Given the description of an element on the screen output the (x, y) to click on. 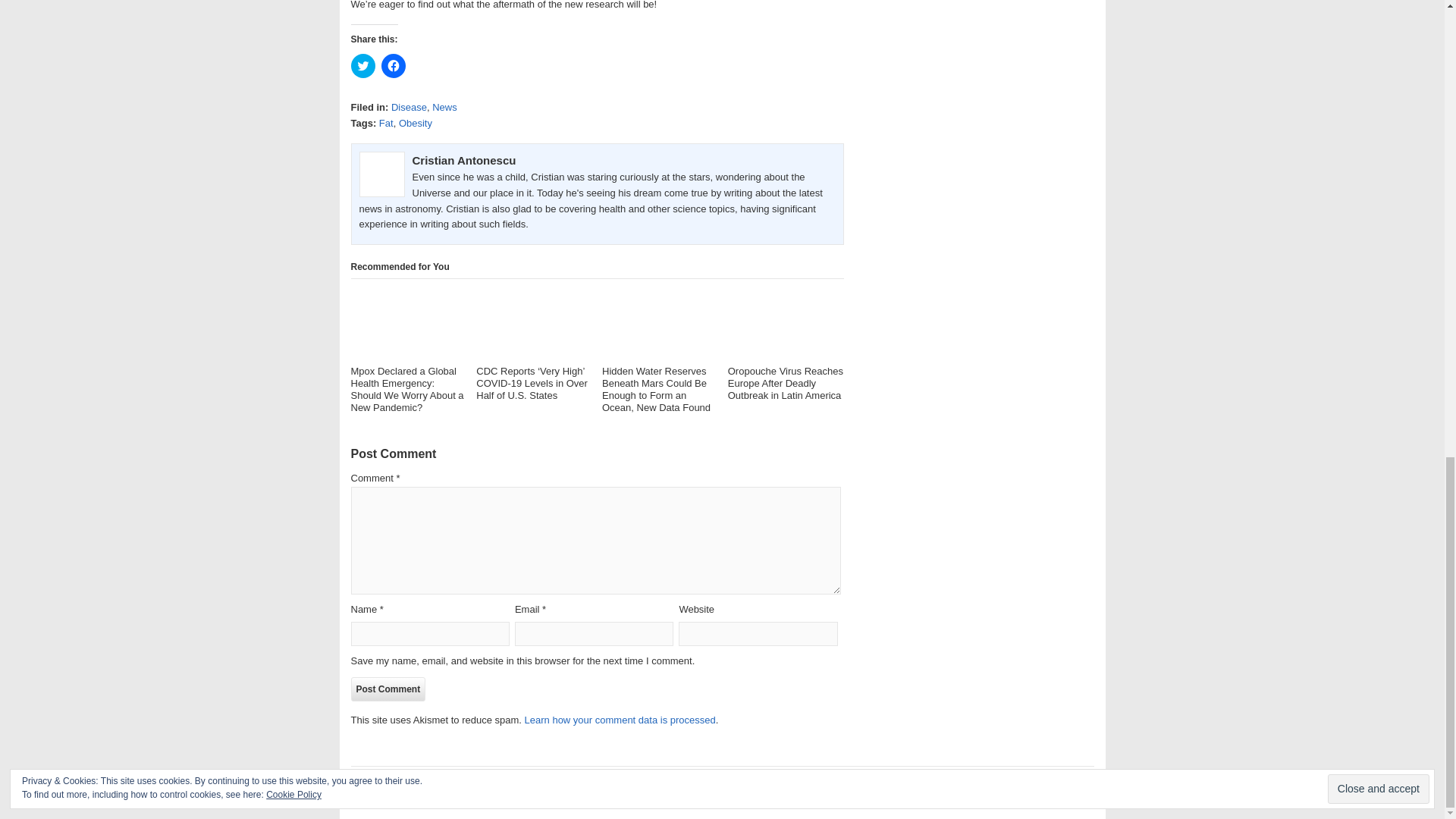
Click to share on Facebook (392, 65)
Click to share on Twitter (362, 65)
Your Highroad to Health (410, 800)
Post Comment (387, 689)
